Given the description of an element on the screen output the (x, y) to click on. 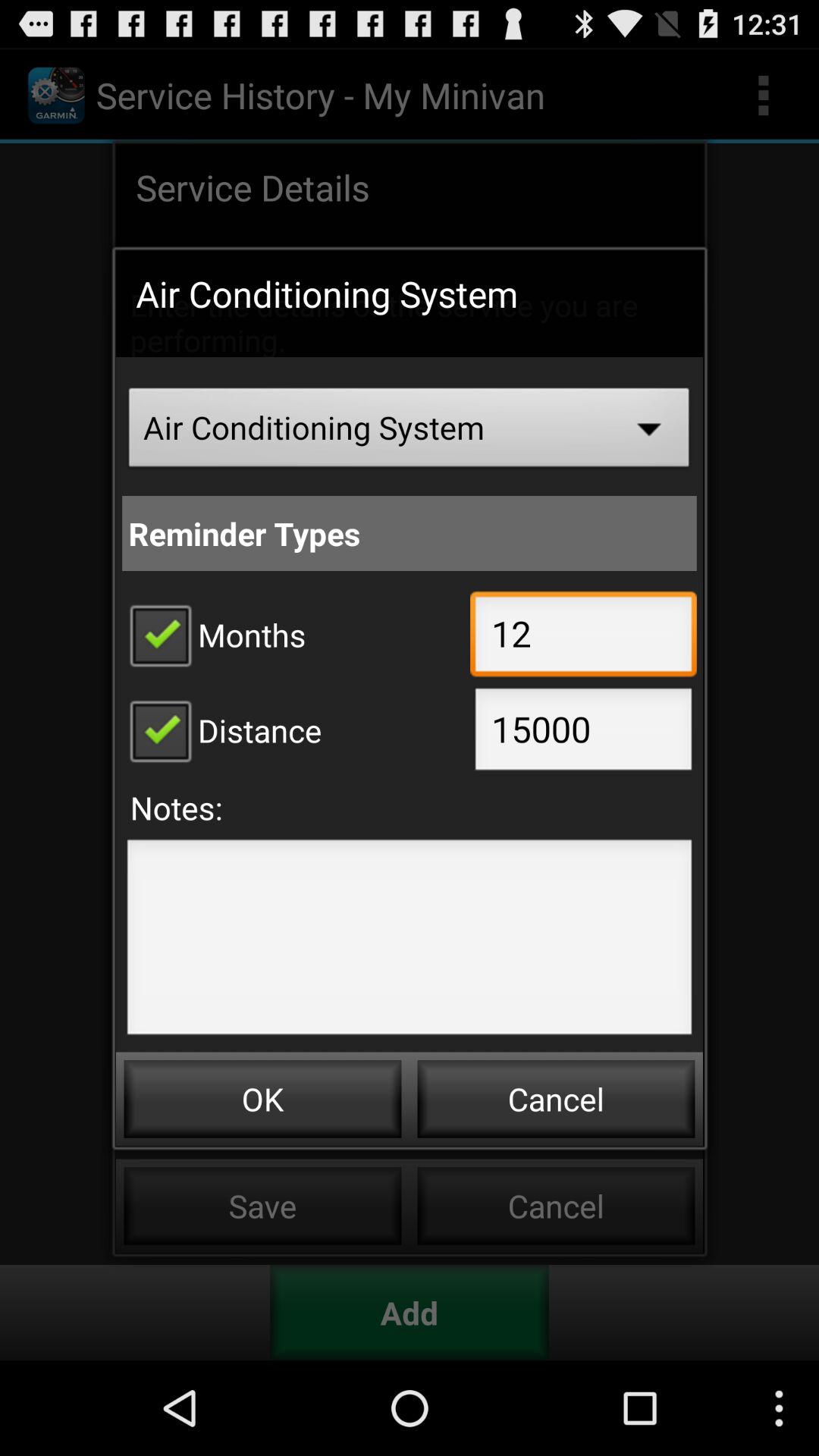
note (409, 941)
